Given the description of an element on the screen output the (x, y) to click on. 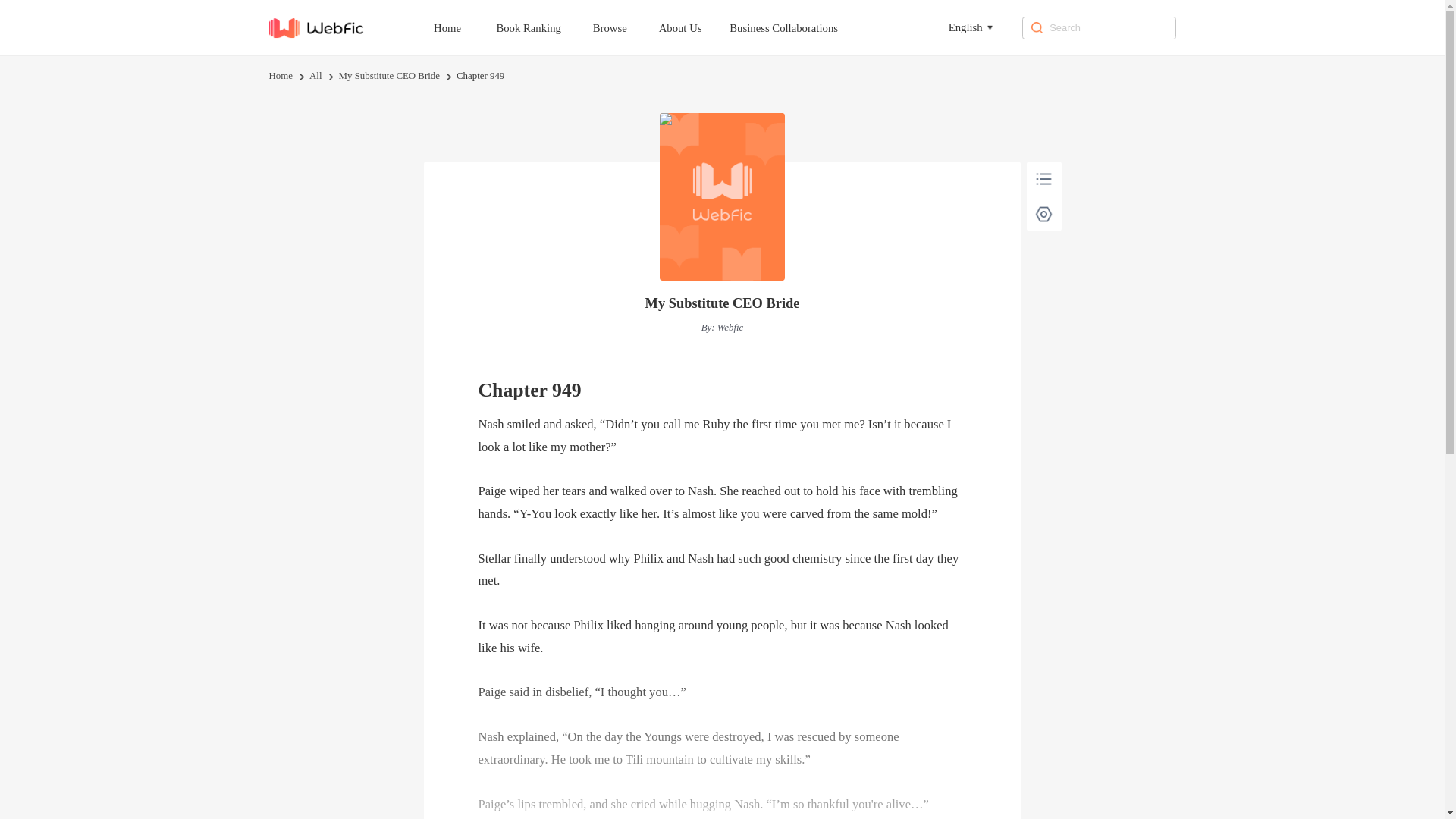
Home (279, 76)
My Substitute CEO Bride (722, 303)
My Substitute CEO Bride (389, 76)
Home (461, 27)
About Us (694, 27)
Book Ranking (542, 27)
Browse (624, 27)
Business Collaborations (797, 27)
